Given the description of an element on the screen output the (x, y) to click on. 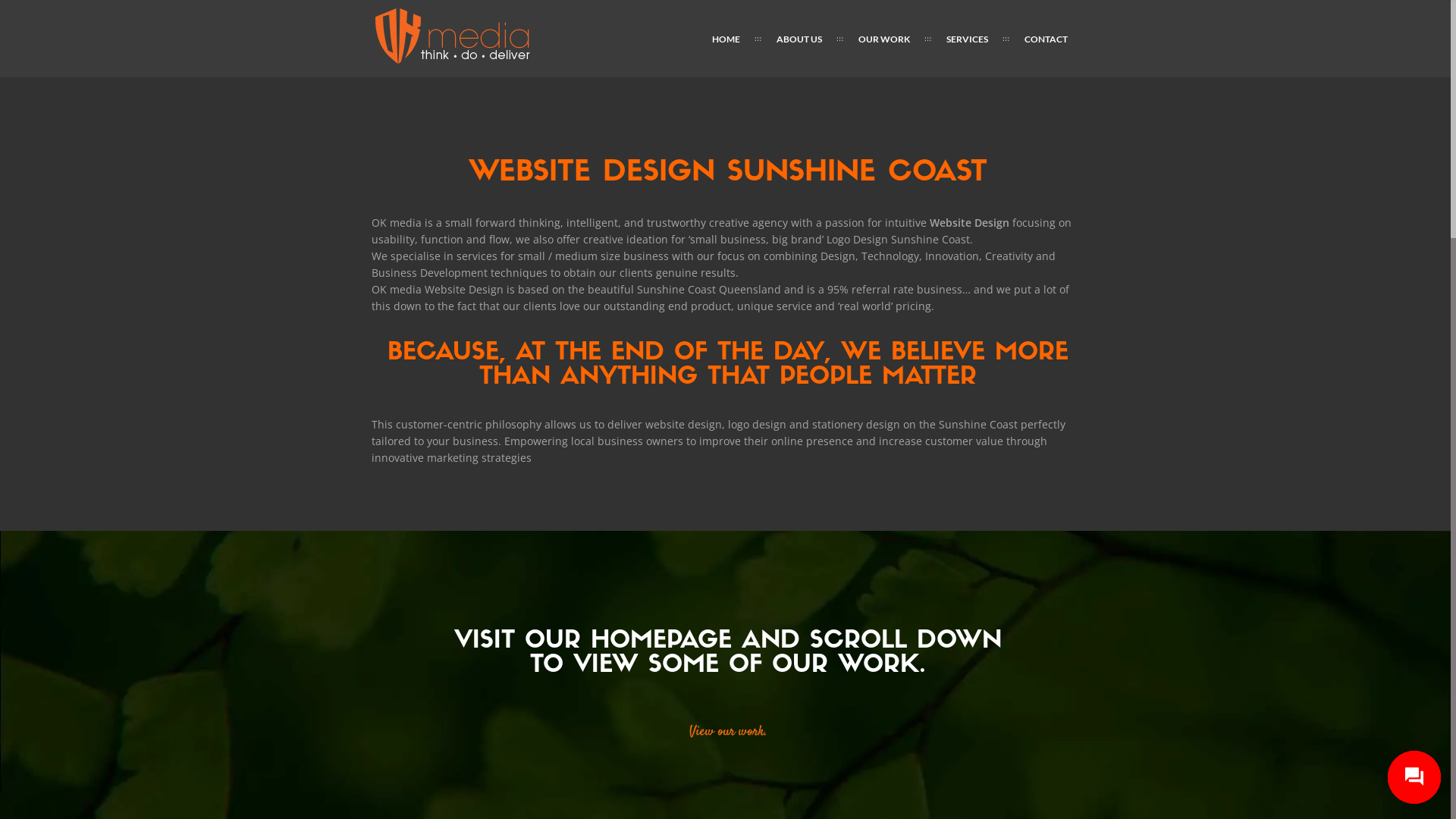
CONTACT Element type: text (1045, 39)
OUR WORK Element type: text (884, 39)
ABOUT US Element type: text (799, 39)
SERVICES Element type: text (967, 39)
HOME Element type: text (726, 39)
View our work. Element type: text (728, 731)
